Given the description of an element on the screen output the (x, y) to click on. 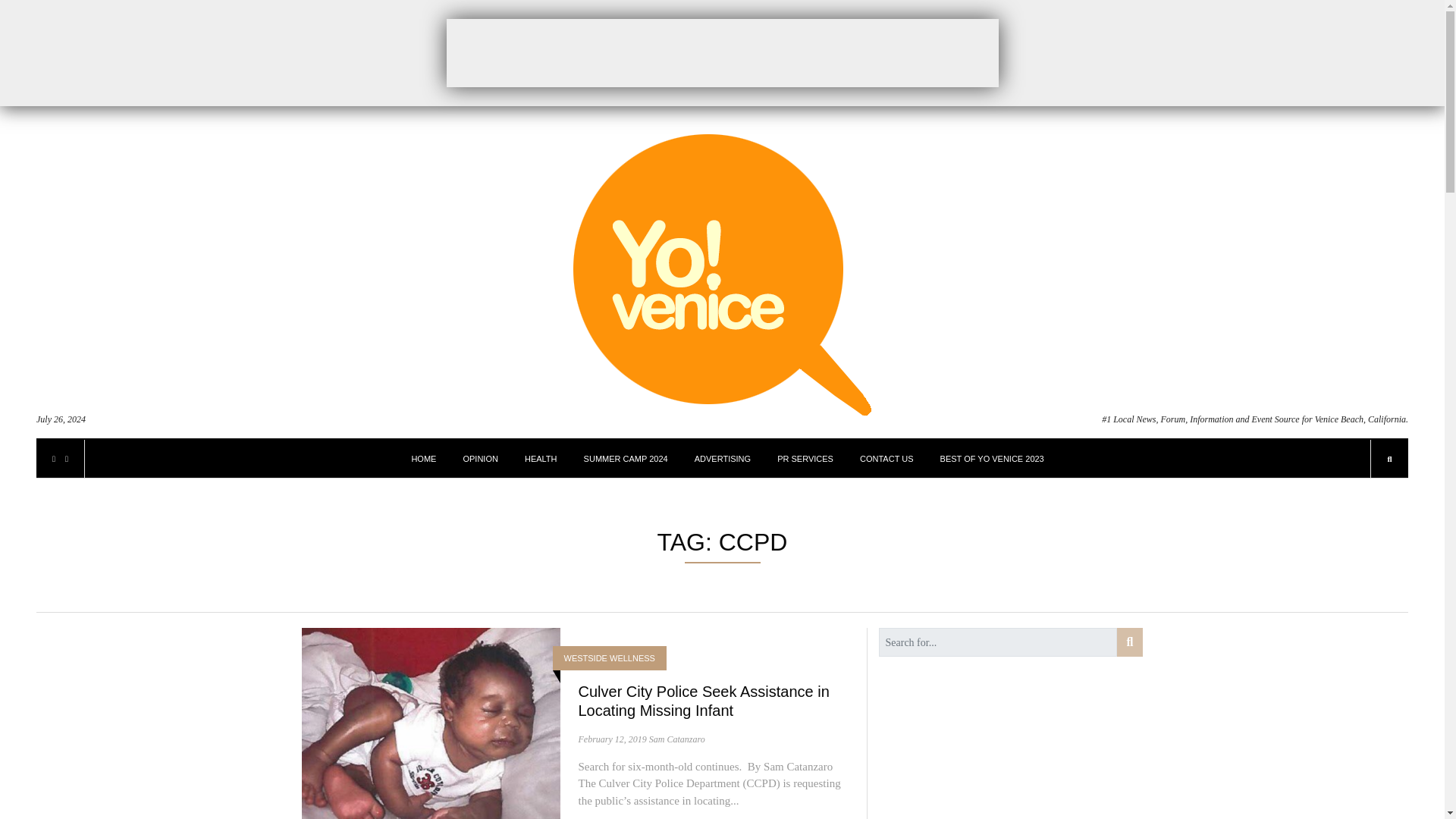
ADVERTISING (722, 458)
WESTSIDE WELLNESS (609, 658)
CONTACT US (887, 458)
SUMMER CAMP 2024 (625, 458)
PR SERVICES (804, 458)
3rd party ad content (991, 755)
BEST OF YO VENICE 2023 (991, 458)
Sam Catanzaro (676, 738)
OPINION (480, 458)
Posts by Sam Catanzaro (676, 738)
3rd party ad content (721, 52)
